Given the description of an element on the screen output the (x, y) to click on. 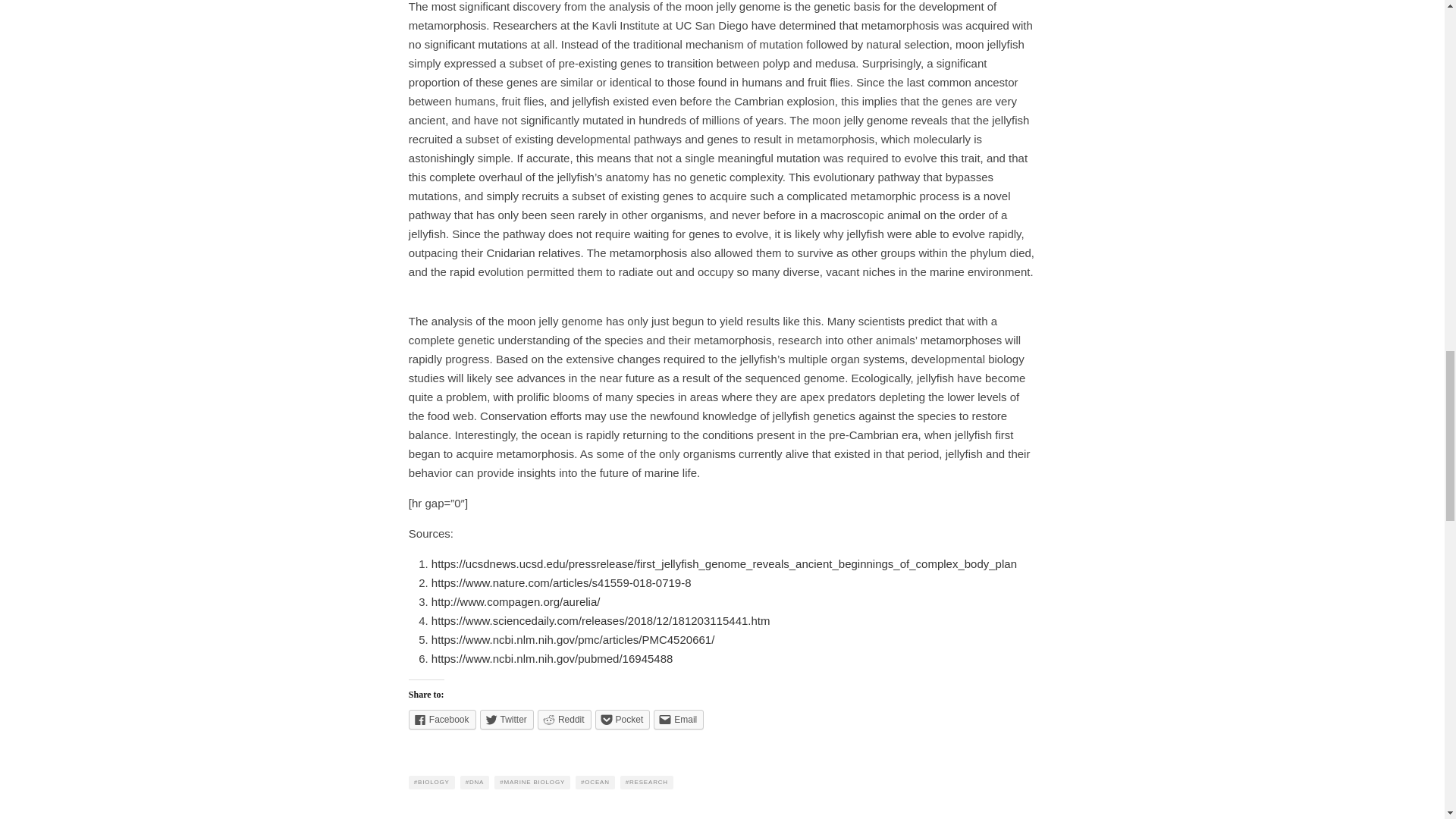
Twitter (507, 719)
Email (678, 719)
RESEARCH (646, 782)
MARINE BIOLOGY (532, 782)
Click to share on Twitter (507, 719)
Reddit (564, 719)
Facebook (442, 719)
OCEAN (594, 782)
Click to email this to a friend (678, 719)
Pocket (622, 719)
Click to share on Pocket (622, 719)
BIOLOGY (431, 782)
Click to share on Facebook (442, 719)
Click to share on Reddit (564, 719)
DNA (474, 782)
